Given the description of an element on the screen output the (x, y) to click on. 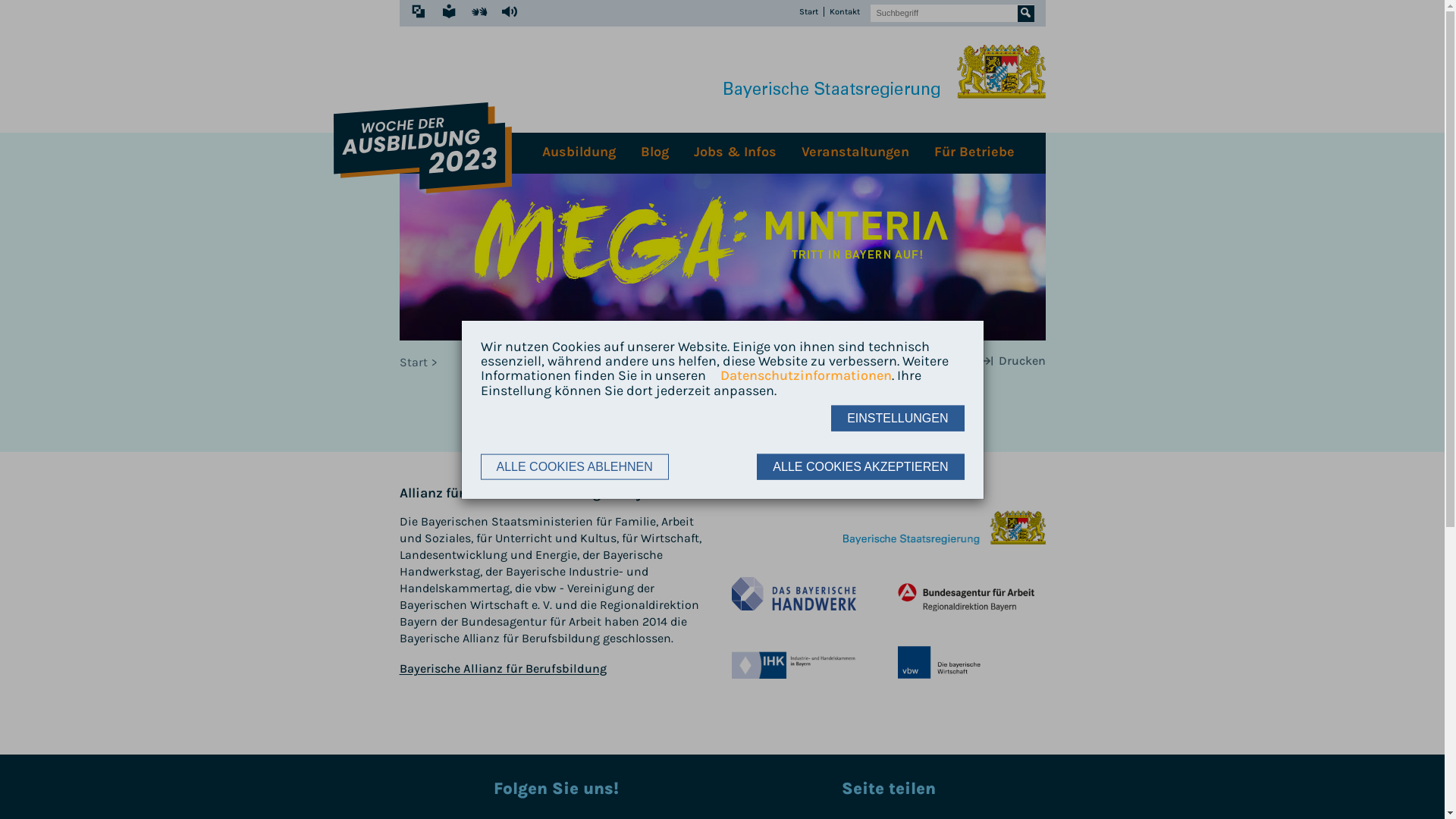
Start Element type: text (419, 362)
Start Element type: text (808, 11)
In den Kontrastmodus wechseln Element type: text (418, 10)
Empfehlen Element type: text (930, 360)
EINSTELLUNGEN Element type: text (897, 417)
ALLE COOKIES AKZEPTIEREN Element type: text (859, 466)
Drucken Element type: text (1012, 360)
Kontakt Element type: text (844, 11)
Jobs & Infos Element type: text (734, 153)
Seite vorlesen Element type: text (509, 10)
Veranstaltungen Element type: text (854, 153)
Ausbildung Element type: text (578, 153)
SUCHEN Element type: text (1025, 12)
Datenschutzinformationen Element type: text (799, 375)
Nach oben Element type: text (786, 414)
Blog Element type: text (654, 153)
ALLE COOKIES ABLEHNEN Element type: text (574, 466)
Leichte Sprache Element type: text (448, 10)
